Given the description of an element on the screen output the (x, y) to click on. 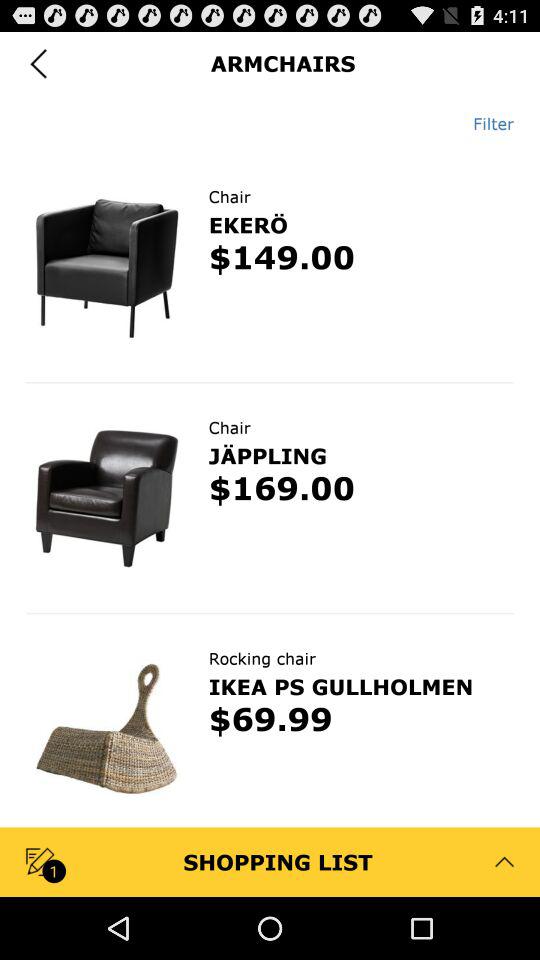
turn on rocking chair app (261, 657)
